Given the description of an element on the screen output the (x, y) to click on. 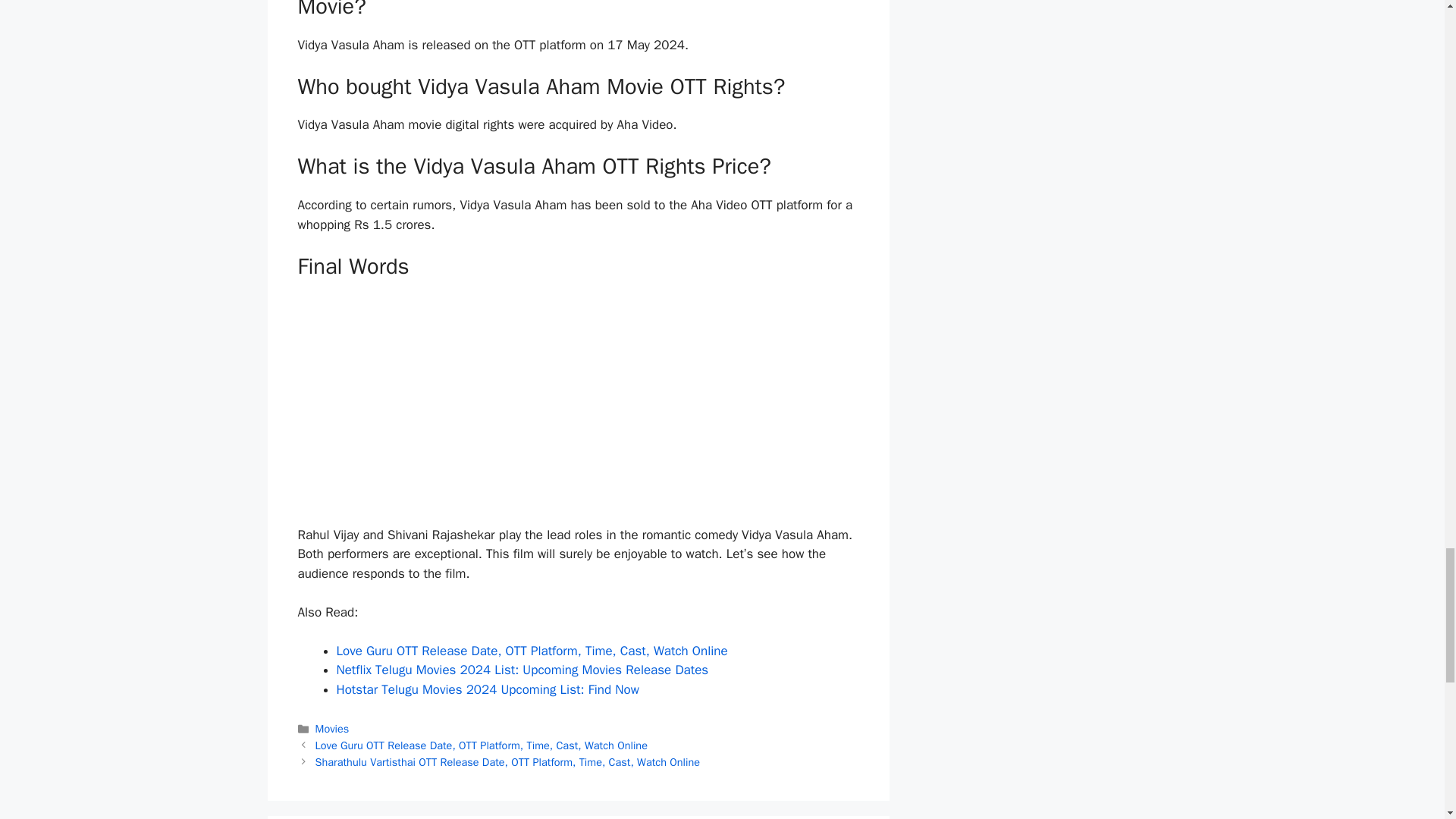
Hotstar Telugu Movies 2024 Upcoming List: Find Now (487, 689)
Movies (332, 728)
